Given the description of an element on the screen output the (x, y) to click on. 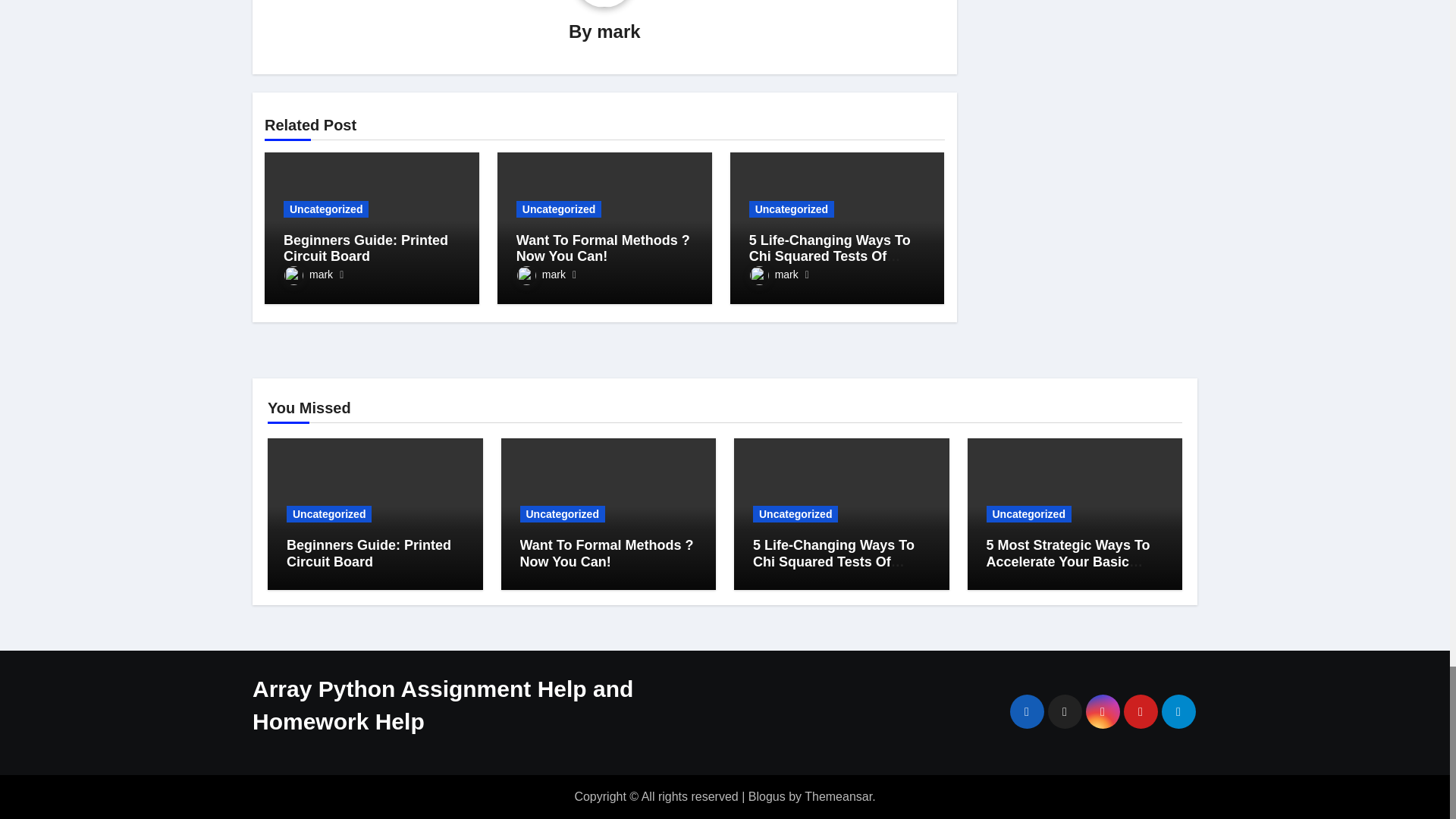
Permalink to: Beginners Guide: Printed Circuit Board (368, 553)
Beginners Guide: Printed Circuit Board (365, 248)
Permalink to: Want To Formal Methods ? Now You Can! (603, 248)
mark (308, 274)
mark (618, 31)
Permalink to: Want To Formal Methods ? Now You Can! (606, 553)
Permalink to: Beginners Guide: Printed Circuit Board (365, 248)
Uncategorized (325, 208)
